Given the description of an element on the screen output the (x, y) to click on. 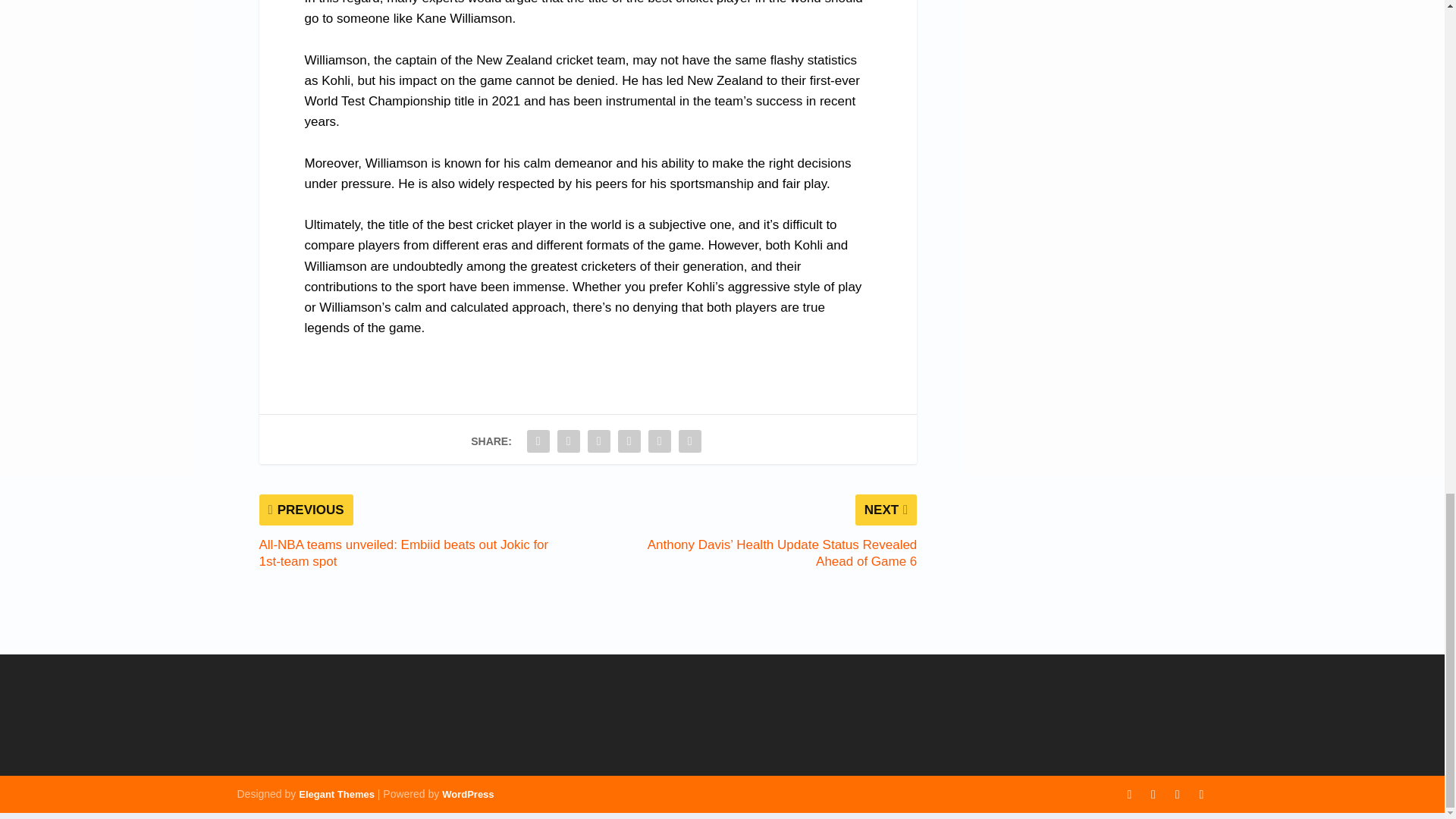
Share "Best Cricket Players in The World" via Pinterest (598, 440)
WordPress (467, 794)
Premium WordPress Themes (336, 794)
Share "Best Cricket Players in The World" via Email (689, 440)
Share "Best Cricket Players in The World" via Twitter (568, 440)
Share "Best Cricket Players in The World" via LinkedIn (629, 440)
Elegant Themes (336, 794)
Share "Best Cricket Players in The World" via Facebook (537, 440)
Share "Best Cricket Players in The World" via Stumbleupon (660, 440)
